Given the description of an element on the screen output the (x, y) to click on. 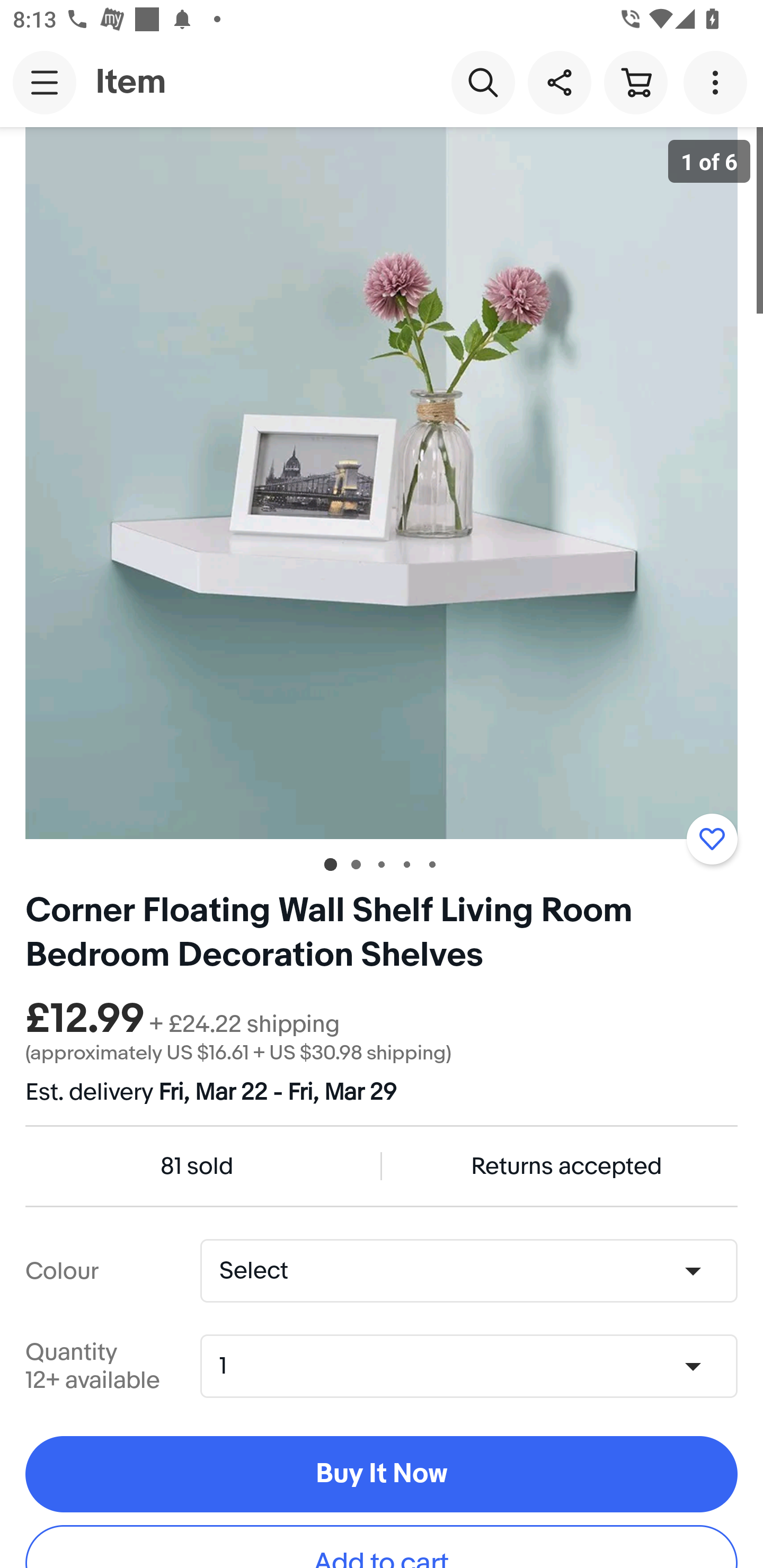
Main navigation, open (44, 82)
Search (482, 81)
Share this item (559, 81)
Cart button shopping cart (635, 81)
More options (718, 81)
Item image 1 of 6 (381, 482)
Add to watchlist (711, 838)
Colour,No selection Select (468, 1270)
Quantity,1,12+ available 1 (474, 1365)
Buy It Now (381, 1474)
